Given the description of an element on the screen output the (x, y) to click on. 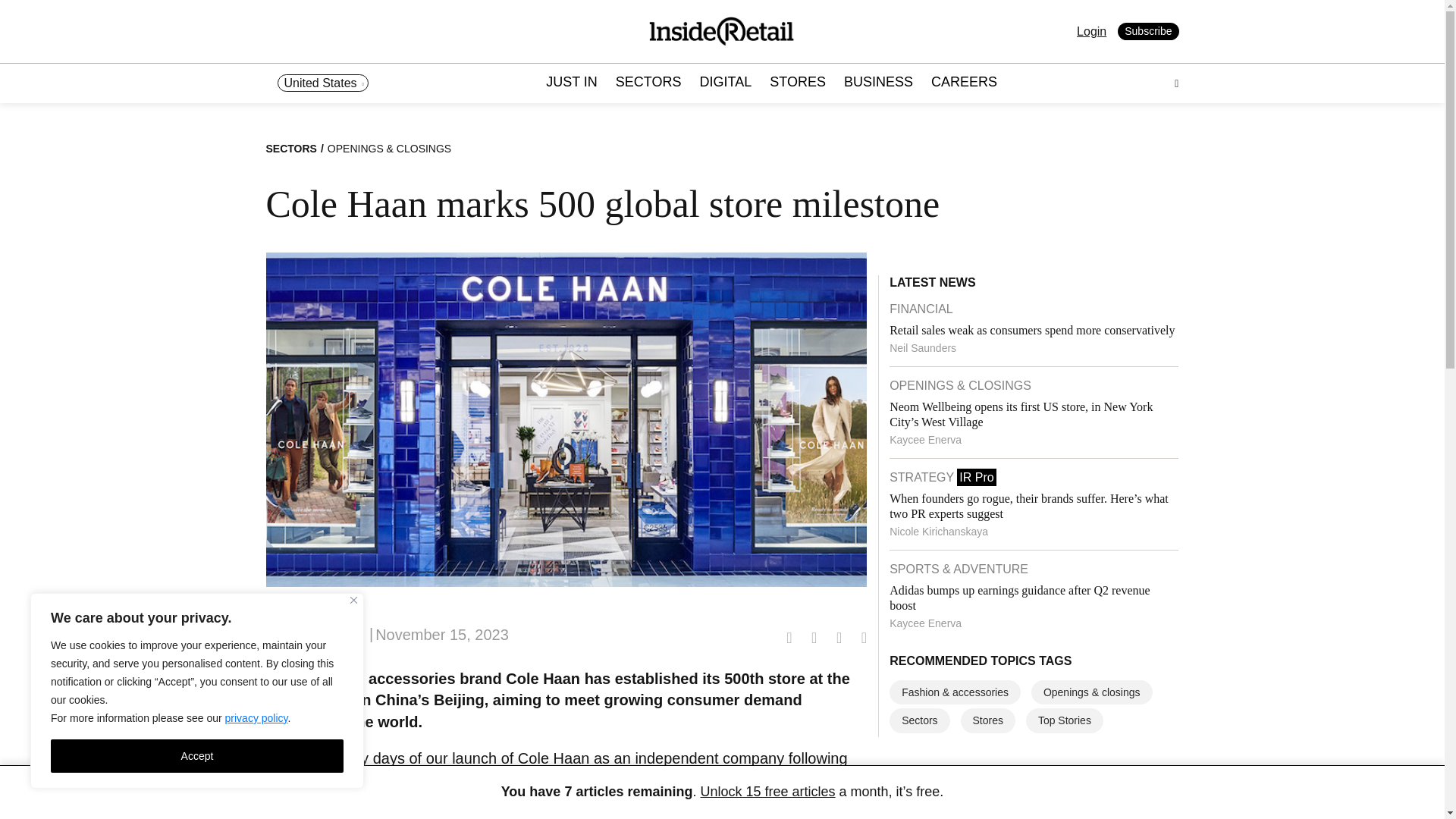
Stores (987, 720)
Accept (196, 756)
JUST IN (571, 83)
Login (1091, 31)
privacy policy (256, 717)
Subscribe (1147, 31)
United States (323, 82)
SECTORS (648, 83)
Top Stories (1064, 720)
Sectors (919, 720)
